Given the description of an element on the screen output the (x, y) to click on. 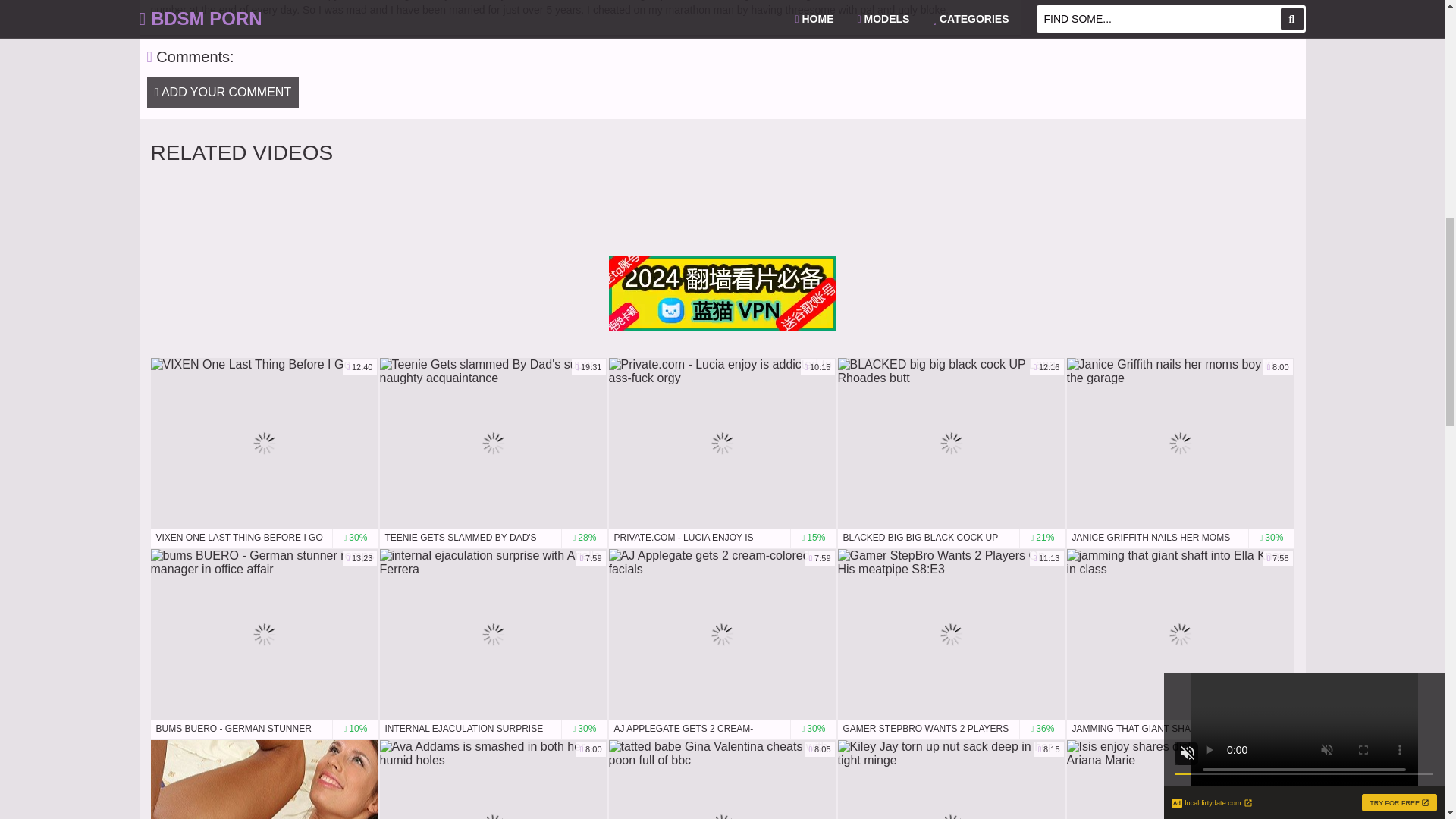
7:59 (721, 633)
7:58 (1179, 633)
8:05 (721, 779)
12:16 (950, 442)
AJ APPLEGATE GETS 2 CREAM-COLORED FACIALS (721, 728)
12:40 (263, 442)
7:59 (263, 779)
JAMMING THAT GIANT SHAFT INTO ELLA KNOX IN CLASS (492, 633)
10:15 (1179, 728)
